Given the description of an element on the screen output the (x, y) to click on. 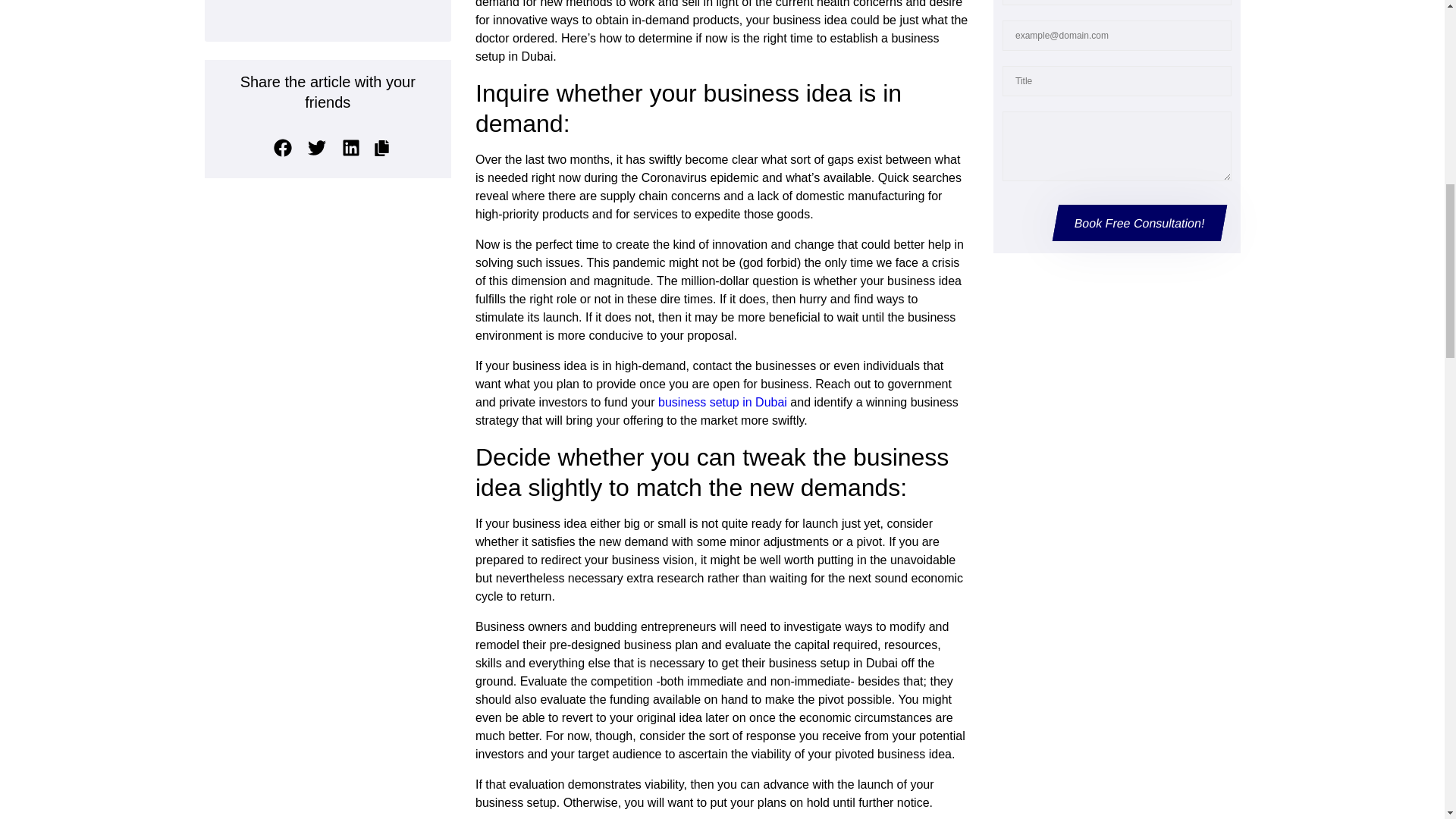
Book Free Consultation! (1136, 222)
